Given the description of an element on the screen output the (x, y) to click on. 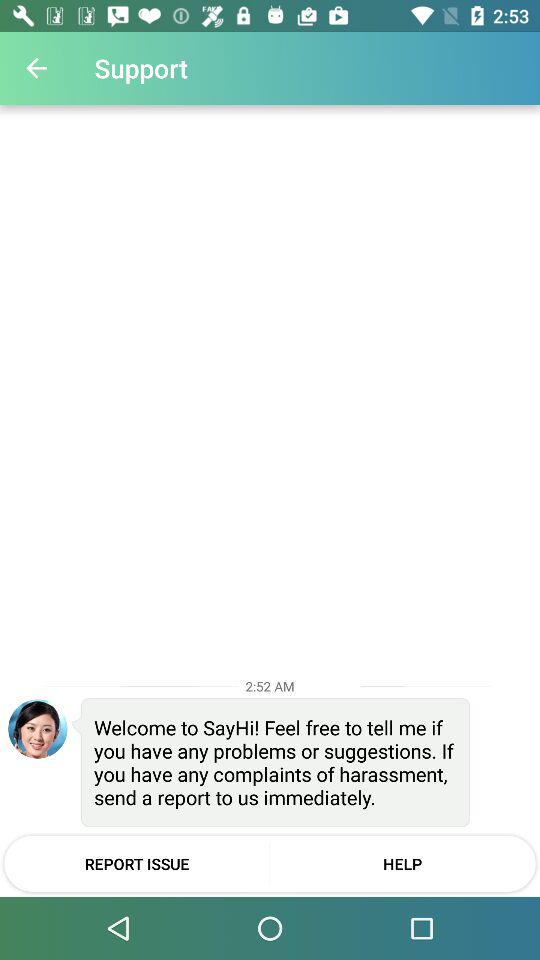
choose icon next to the welcome to sayhi icon (37, 728)
